Given the description of an element on the screen output the (x, y) to click on. 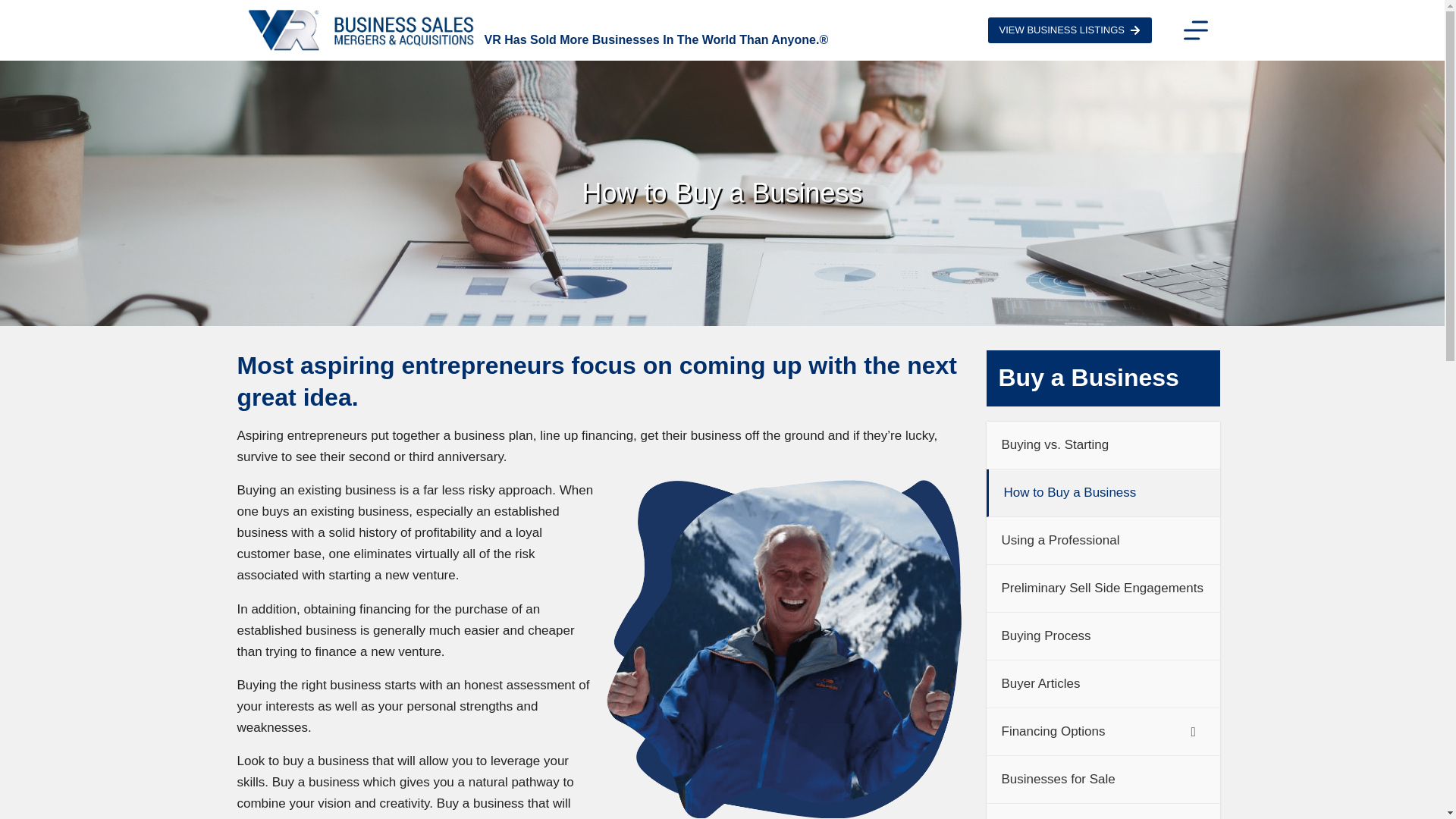
vrbb-aspen-how-to-buy-a-business-c01-min (782, 648)
How to Buy a Business (721, 192)
Skip to content (15, 7)
